Given the description of an element on the screen output the (x, y) to click on. 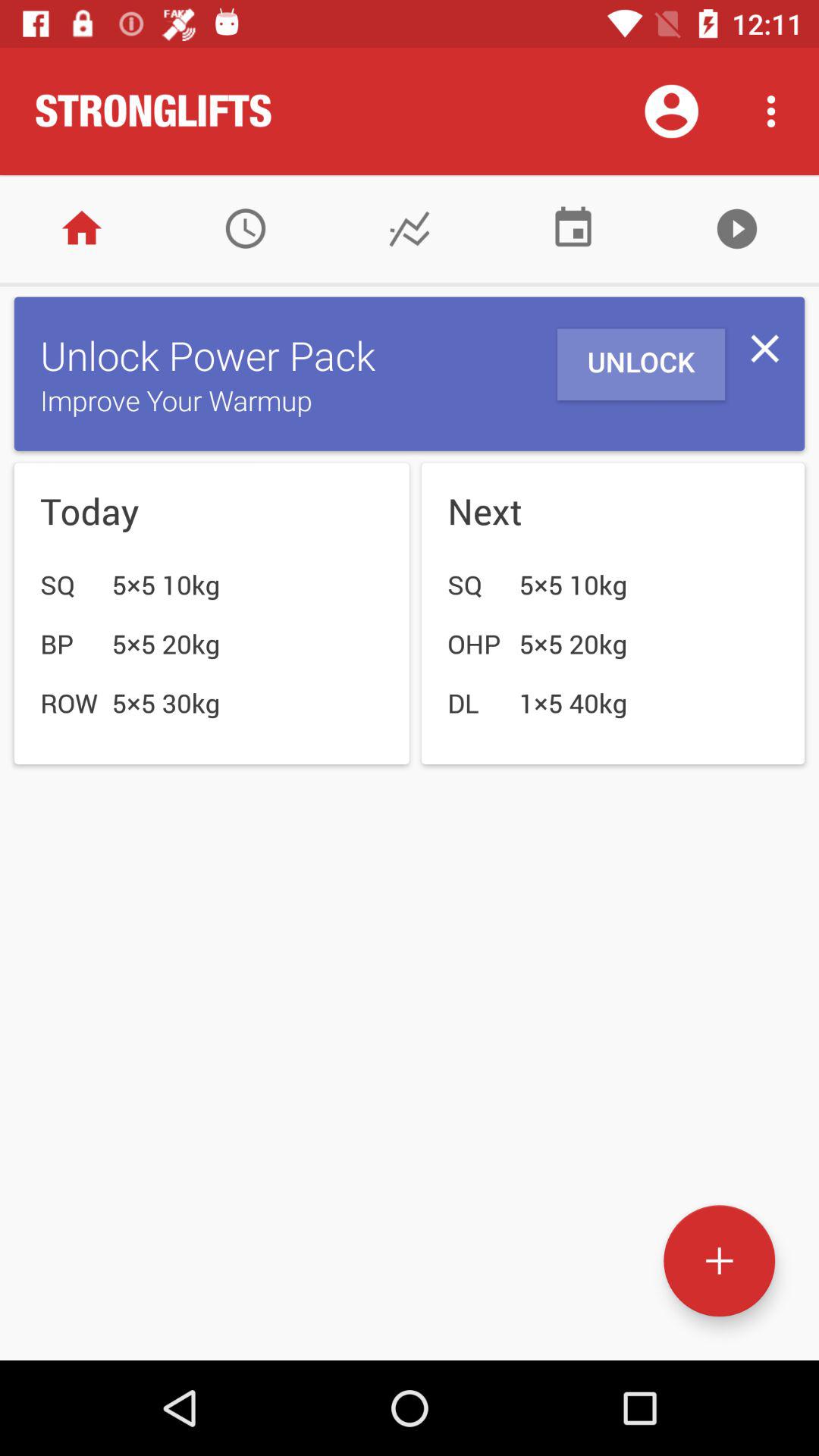
open schedule (245, 228)
